Given the description of an element on the screen output the (x, y) to click on. 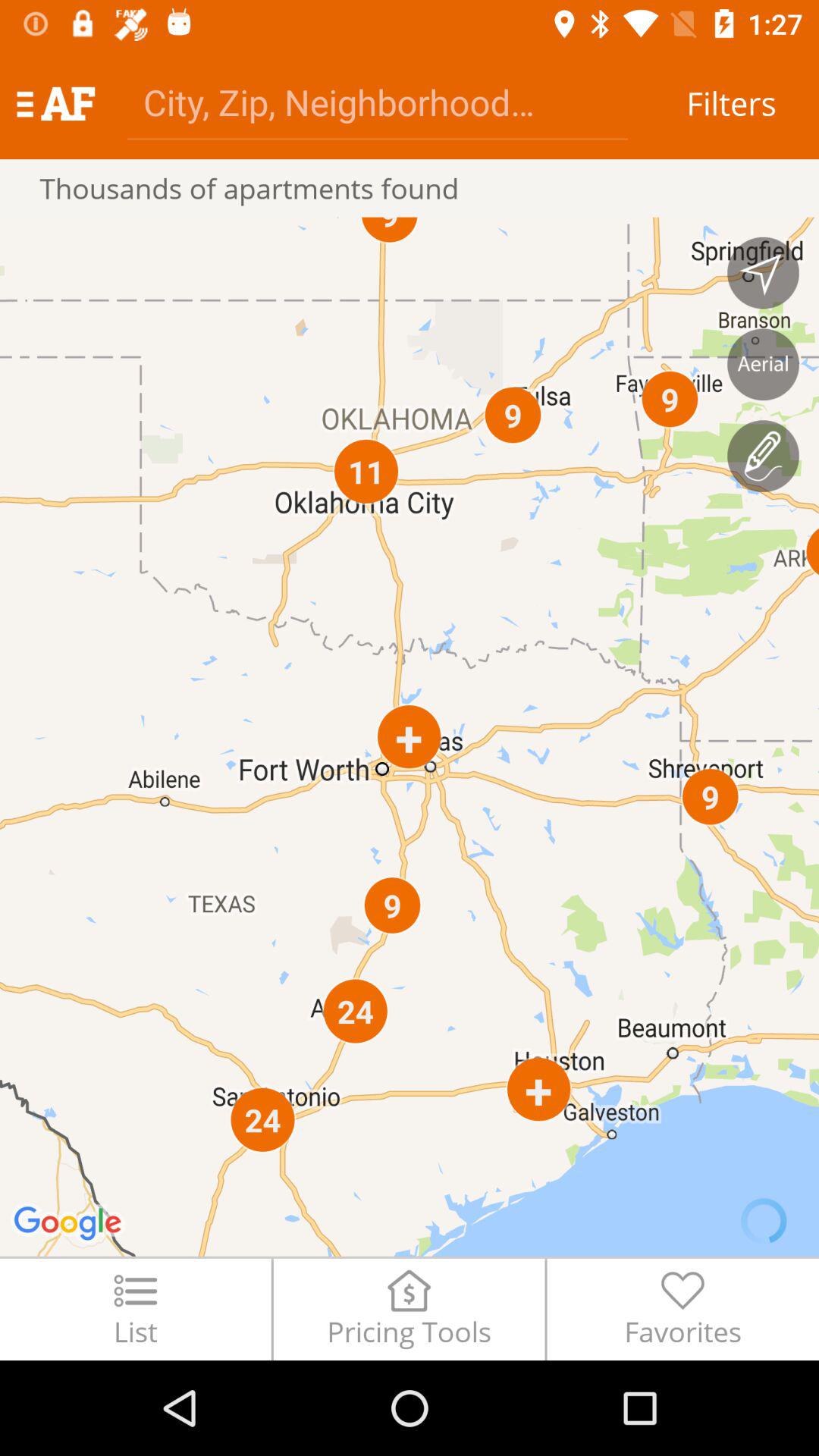
address bar (377, 102)
